Given the description of an element on the screen output the (x, y) to click on. 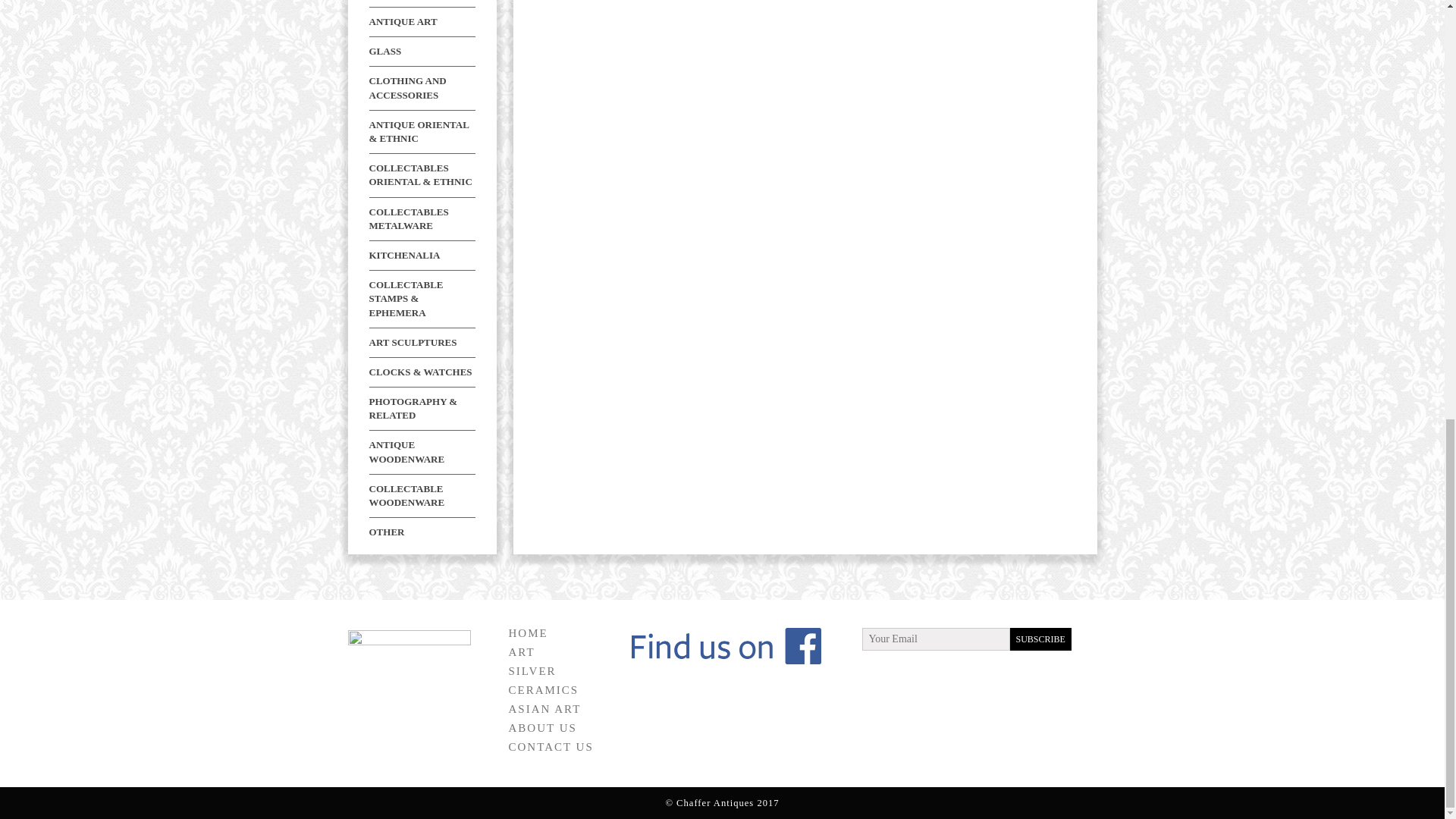
COLLECTABLES METALWARE (408, 218)
CLOTHING AND ACCESSORIES (406, 87)
Subscribe (1040, 639)
ANTIQUE ART (402, 21)
GLASS (384, 50)
